Given the description of an element on the screen output the (x, y) to click on. 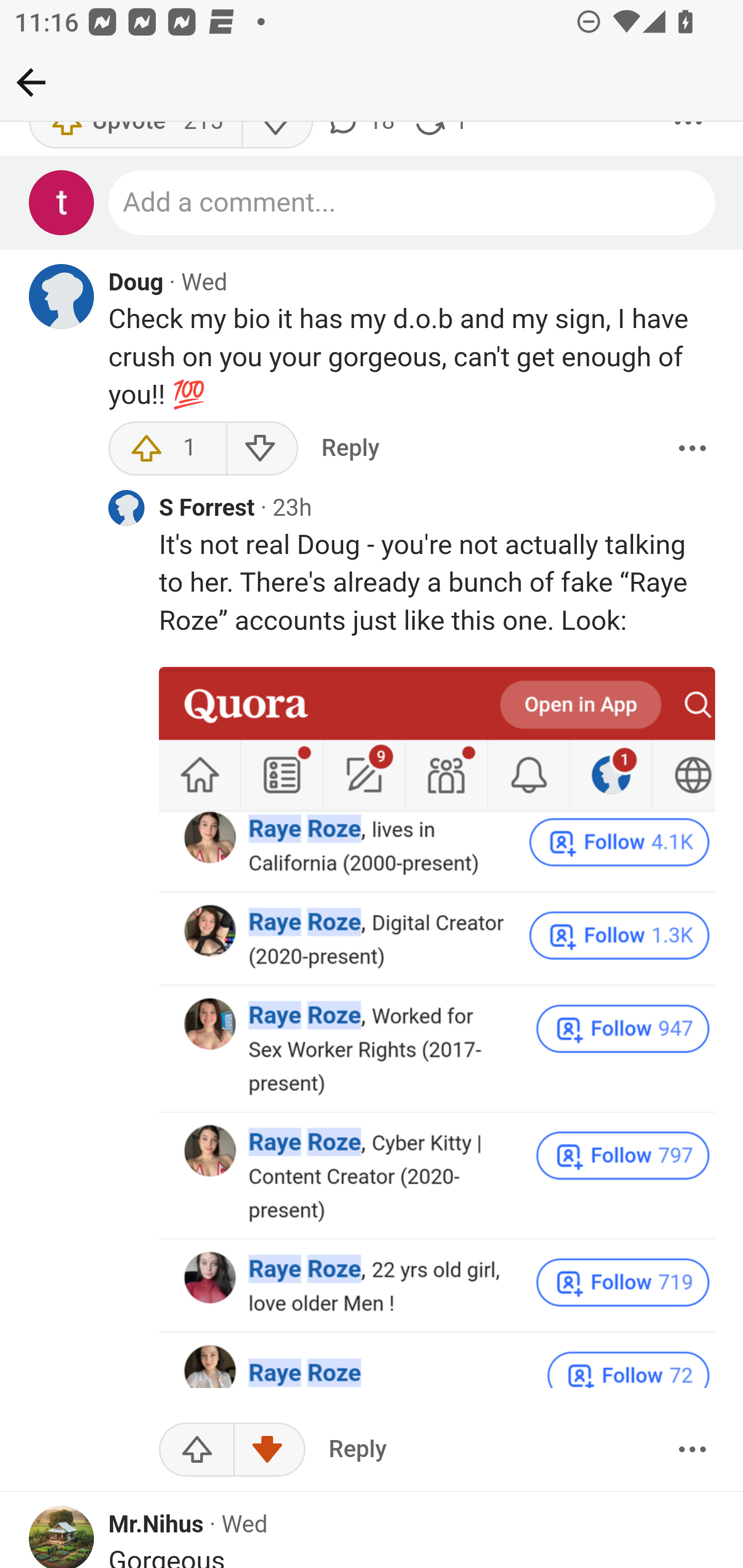
Back (30, 82)
Profile photo for Test Appium (61, 204)
Add a comment... (412, 204)
Profile photo for Doug (61, 297)
Doug (136, 284)
1 upvote (167, 448)
Downvote (261, 448)
Reply (350, 448)
More (691, 448)
Profile photo for S Forrest (126, 508)
S Forrest (207, 510)
main-qimg-0530b6167fb11ecca770947b68254faf (437, 1028)
Upvote (196, 1450)
Downvote (268, 1450)
Reply (357, 1450)
More (691, 1450)
Profile photo for Mr.Nihus (61, 1537)
Mr.Nihus (155, 1526)
